Given the description of an element on the screen output the (x, y) to click on. 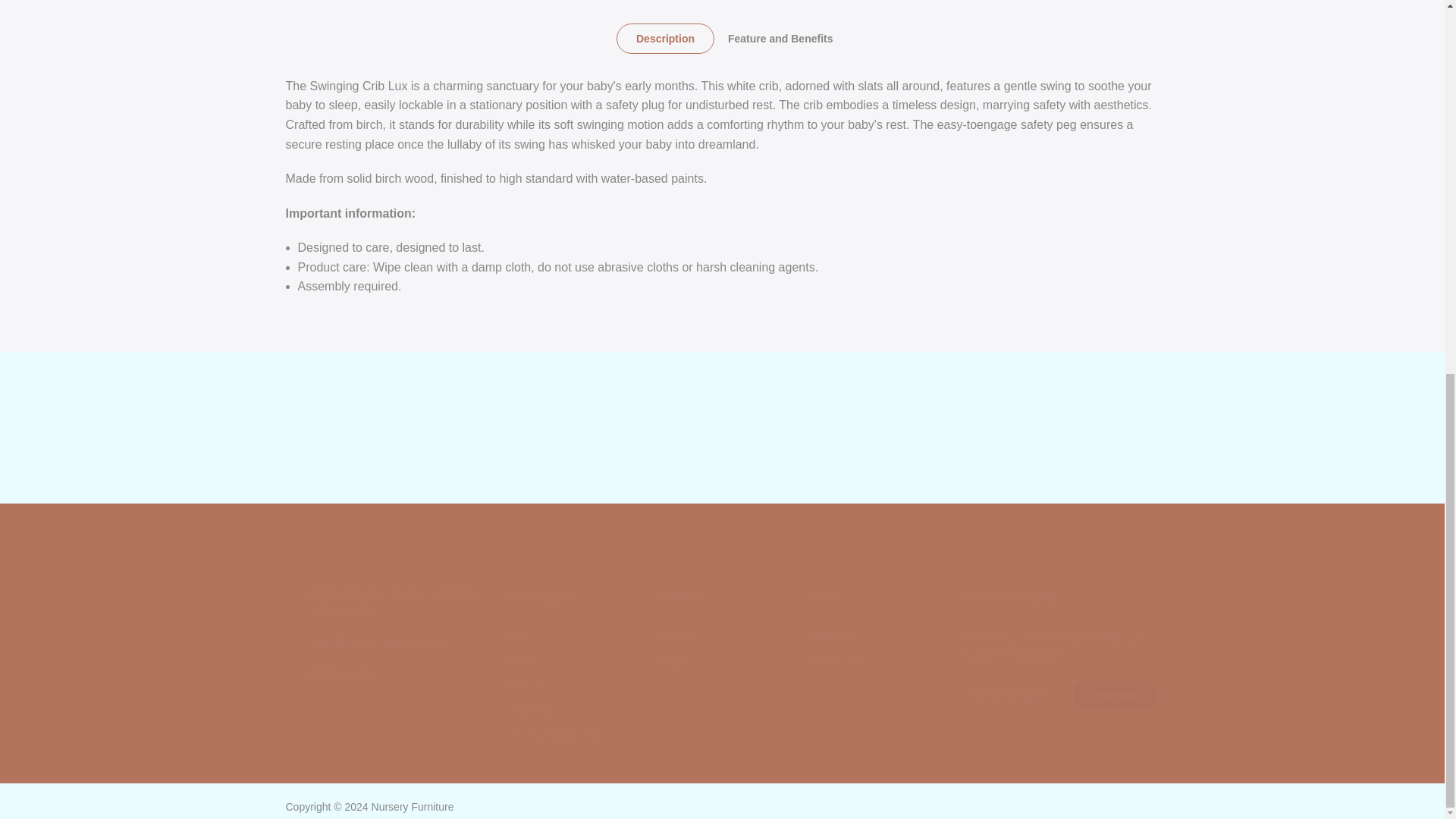
Returns (528, 684)
B2B (519, 635)
Terms and Services (555, 734)
FAQs (522, 660)
Shipping (530, 709)
Feature and Benefits (779, 38)
Register (678, 635)
Description (664, 38)
